Given the description of an element on the screen output the (x, y) to click on. 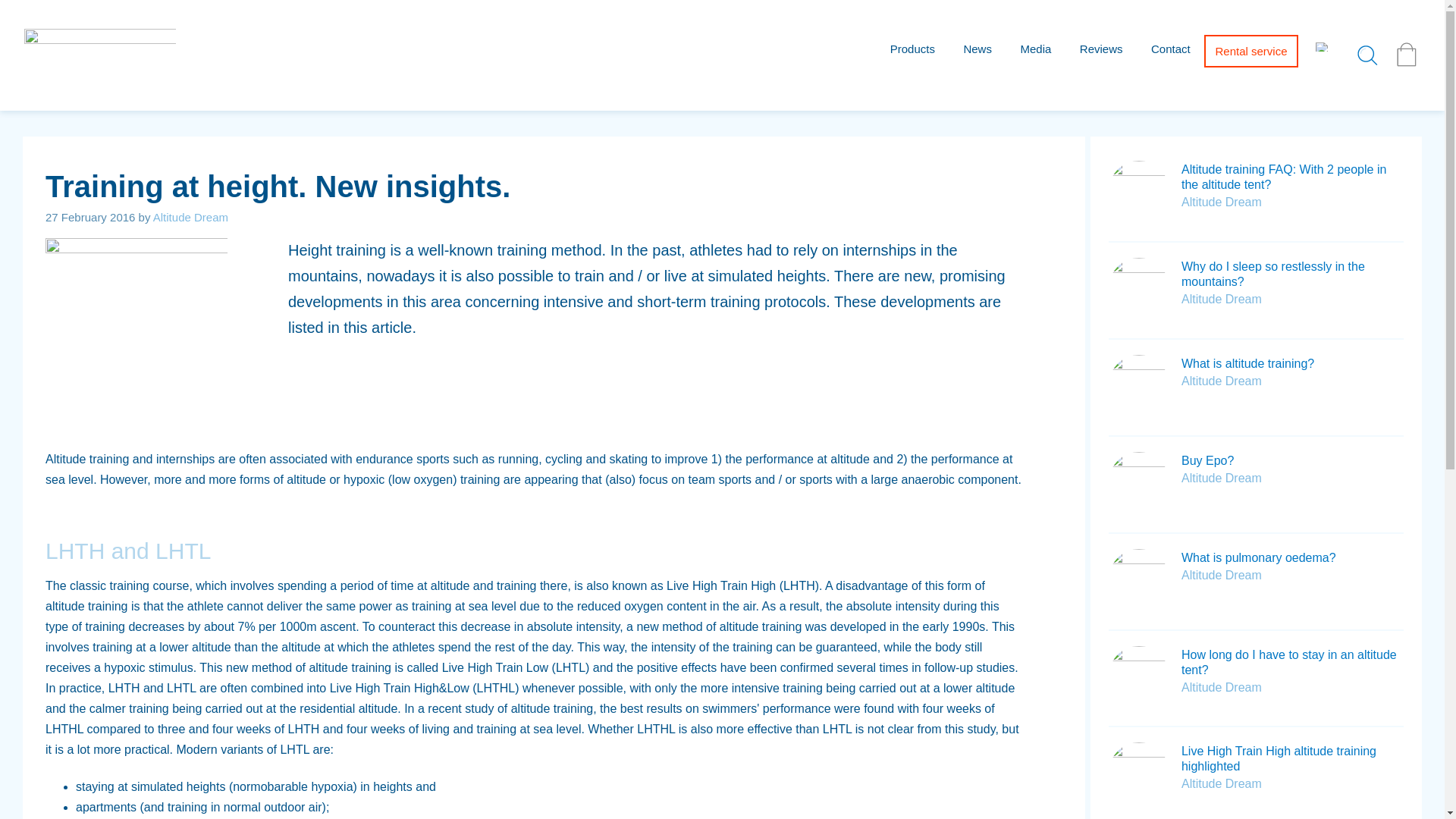
Search (41, 17)
Dutch (1322, 46)
Altitude Dream (66, 103)
News (977, 49)
Altitude Dream (1221, 574)
How long do I have to stay in an altitude tent? (1288, 662)
What is altitude training? (1247, 363)
Altitude Dream (1221, 201)
Rental service (1250, 51)
Altitude Dream (1221, 477)
Altitude Dream (1221, 783)
Reviews (1101, 49)
Altitude Dream (1221, 686)
Altitude Dream (1221, 298)
Live High Train High altitude training highlighted (1277, 758)
